Given the description of an element on the screen output the (x, y) to click on. 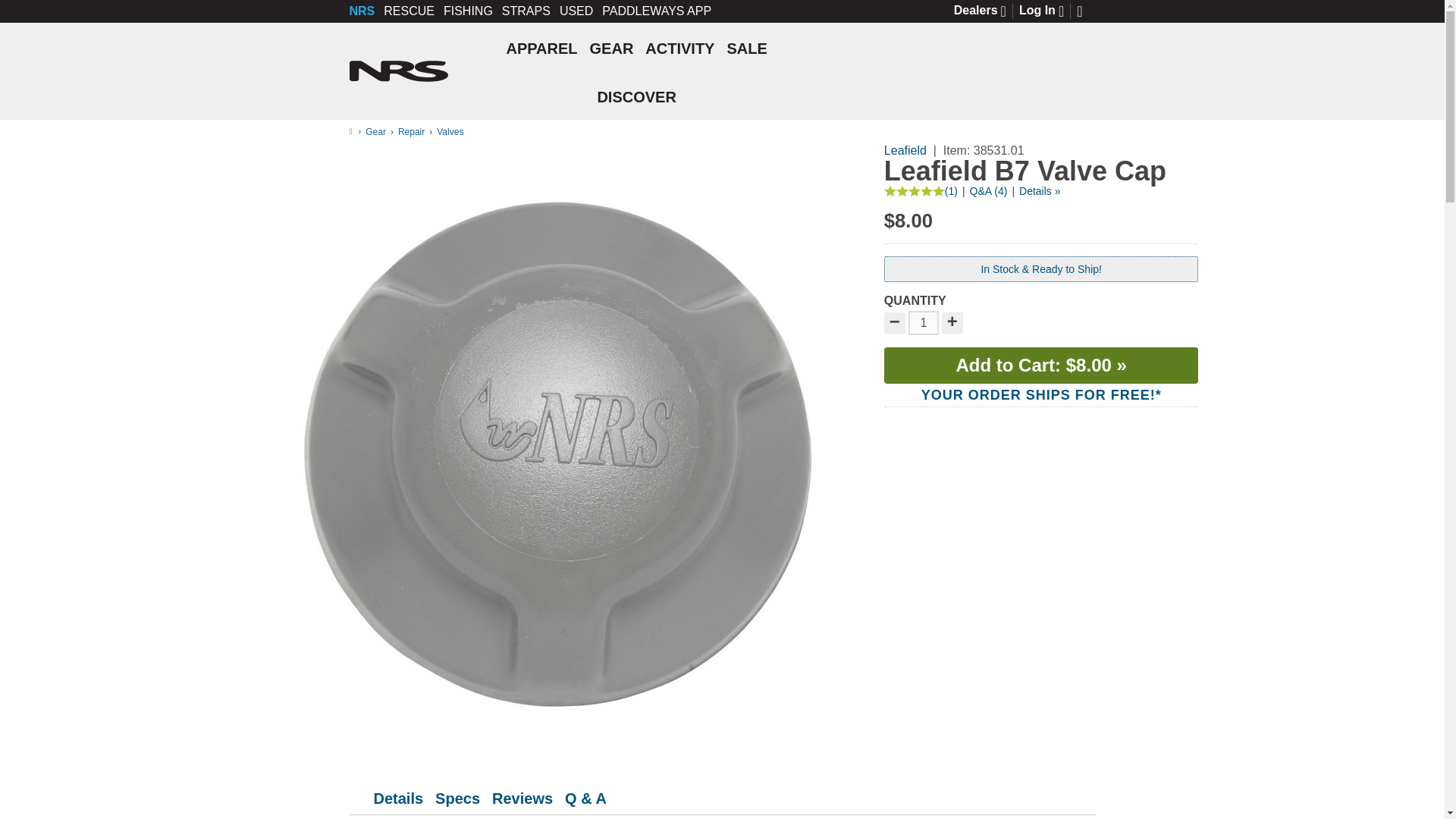
FISHING (468, 10)
NRS (361, 10)
STRAPS (526, 10)
1 (923, 322)
RESCUE (408, 10)
Log In (1048, 11)
Dealers (986, 11)
USED (575, 10)
APPAREL (541, 46)
NRS: Northwest River Supplies (397, 70)
PADDLEWAYS APP (656, 10)
